Given the description of an element on the screen output the (x, y) to click on. 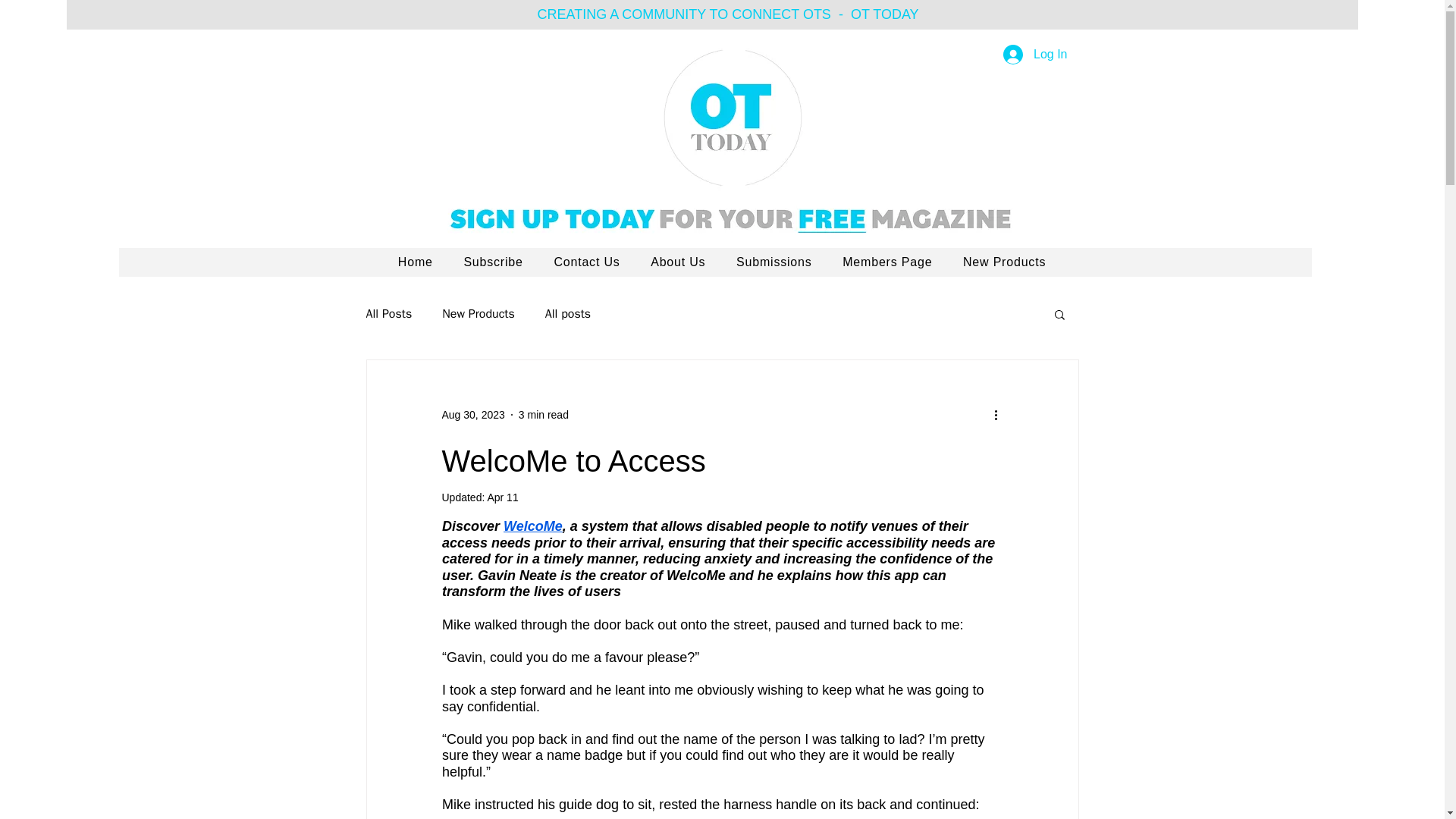
Aug 30, 2023 (472, 414)
Contact Us (586, 262)
Apr 11 (502, 497)
Log In (1034, 54)
Members Page (886, 262)
New Products (1004, 262)
All posts (567, 314)
Home (415, 262)
All Posts (388, 314)
WelcoMe (532, 525)
New Products (478, 314)
About Us (678, 262)
Submissions (773, 262)
3 min read (543, 414)
Subscribe (493, 262)
